Given the description of an element on the screen output the (x, y) to click on. 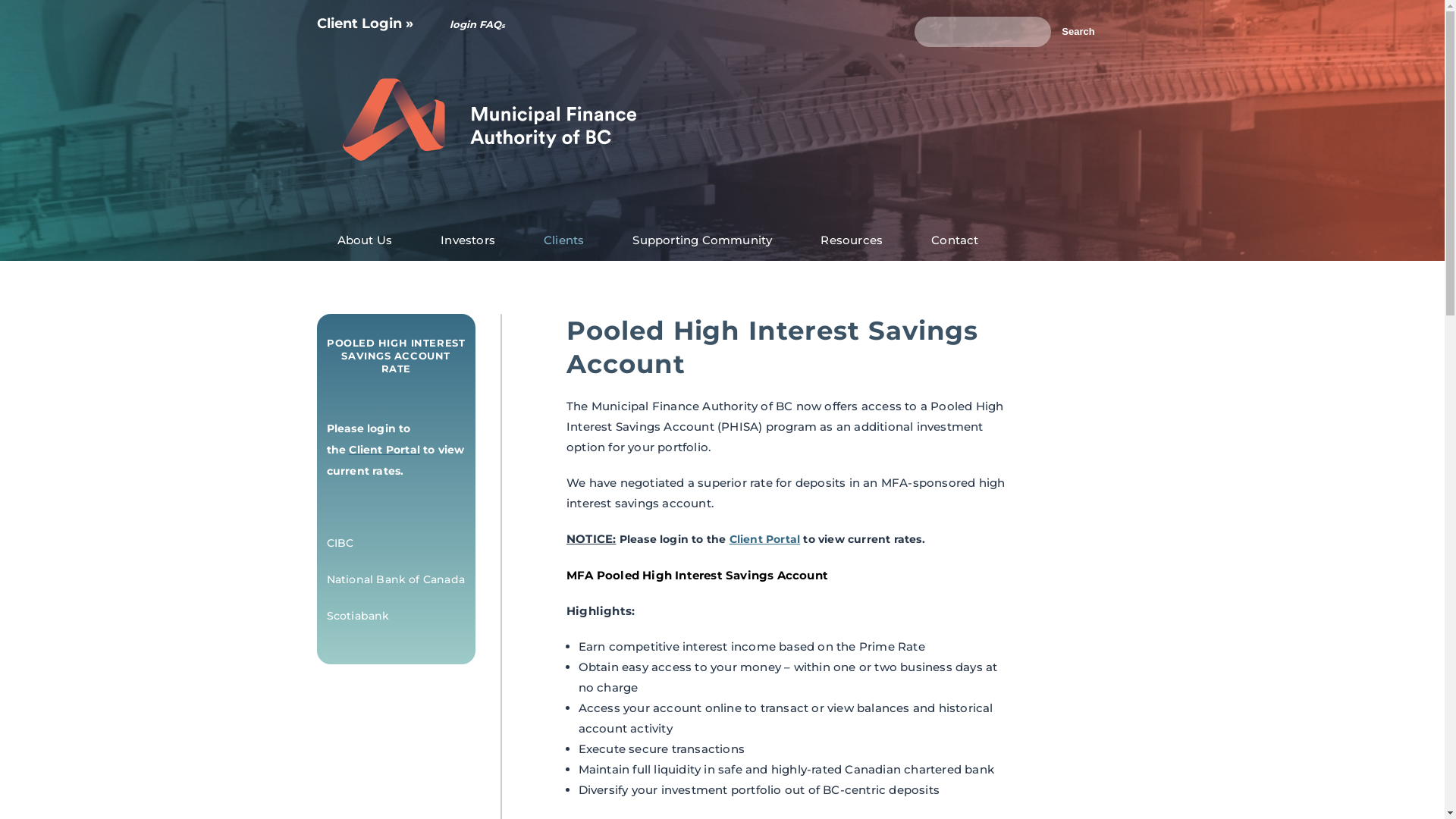
Client Portal Element type: text (384, 449)
Contact Element type: text (954, 240)
Enter the terms you wish to search for. Element type: hover (982, 31)
About Us Element type: text (364, 240)
Clients Element type: text (563, 240)
Resources Element type: text (851, 240)
Skip to main content Element type: text (698, 1)
Client Portal Element type: text (764, 539)
Investors Element type: text (467, 240)
Search Element type: text (1077, 31)
Supporting Community Element type: text (701, 240)
login FAQs Element type: text (483, 24)
